Given the description of an element on the screen output the (x, y) to click on. 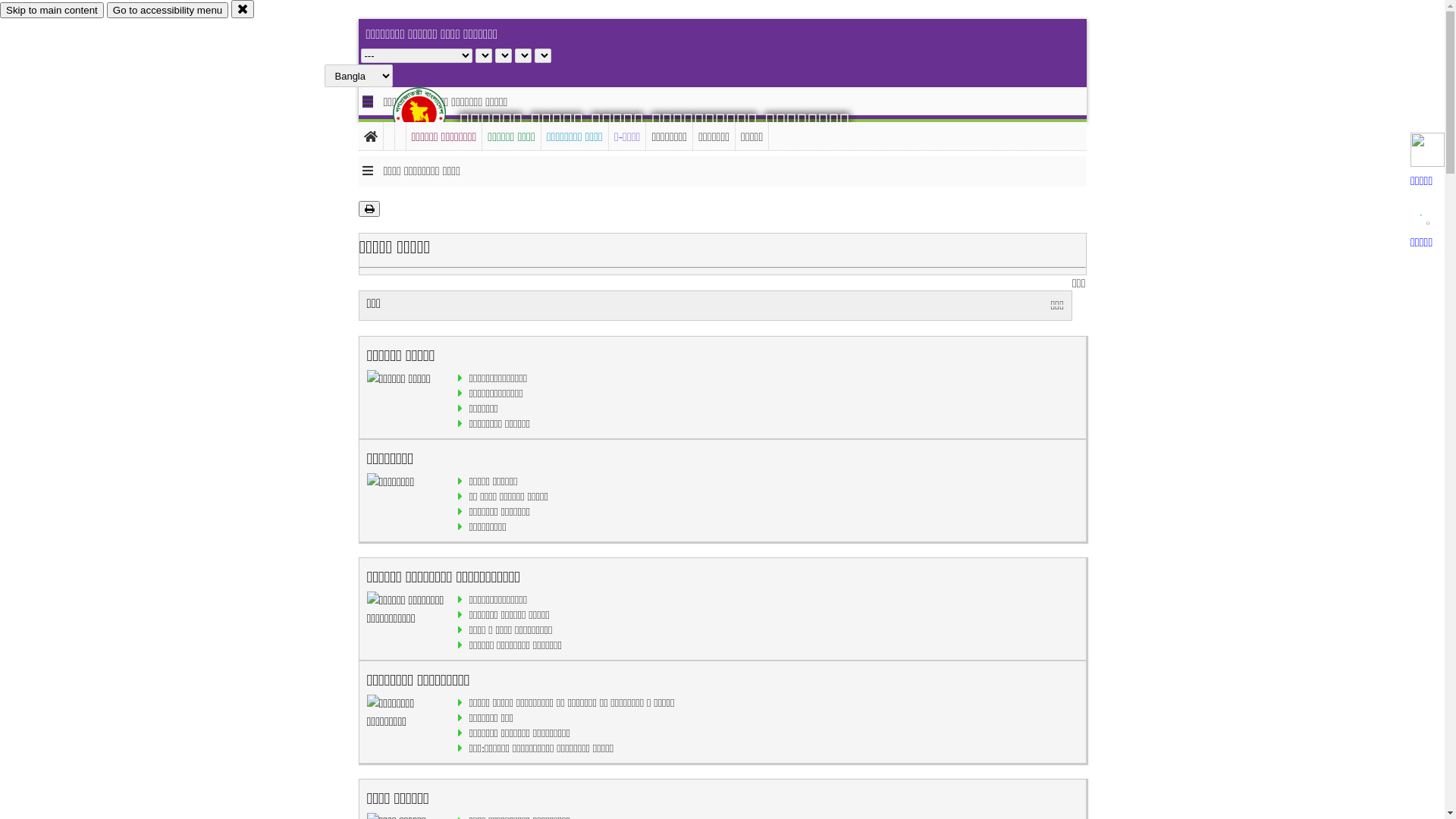
close Element type: hover (242, 9)
Skip to main content Element type: text (51, 10)
Go to accessibility menu Element type: text (167, 10)

                
             Element type: hover (431, 112)
